Given the description of an element on the screen output the (x, y) to click on. 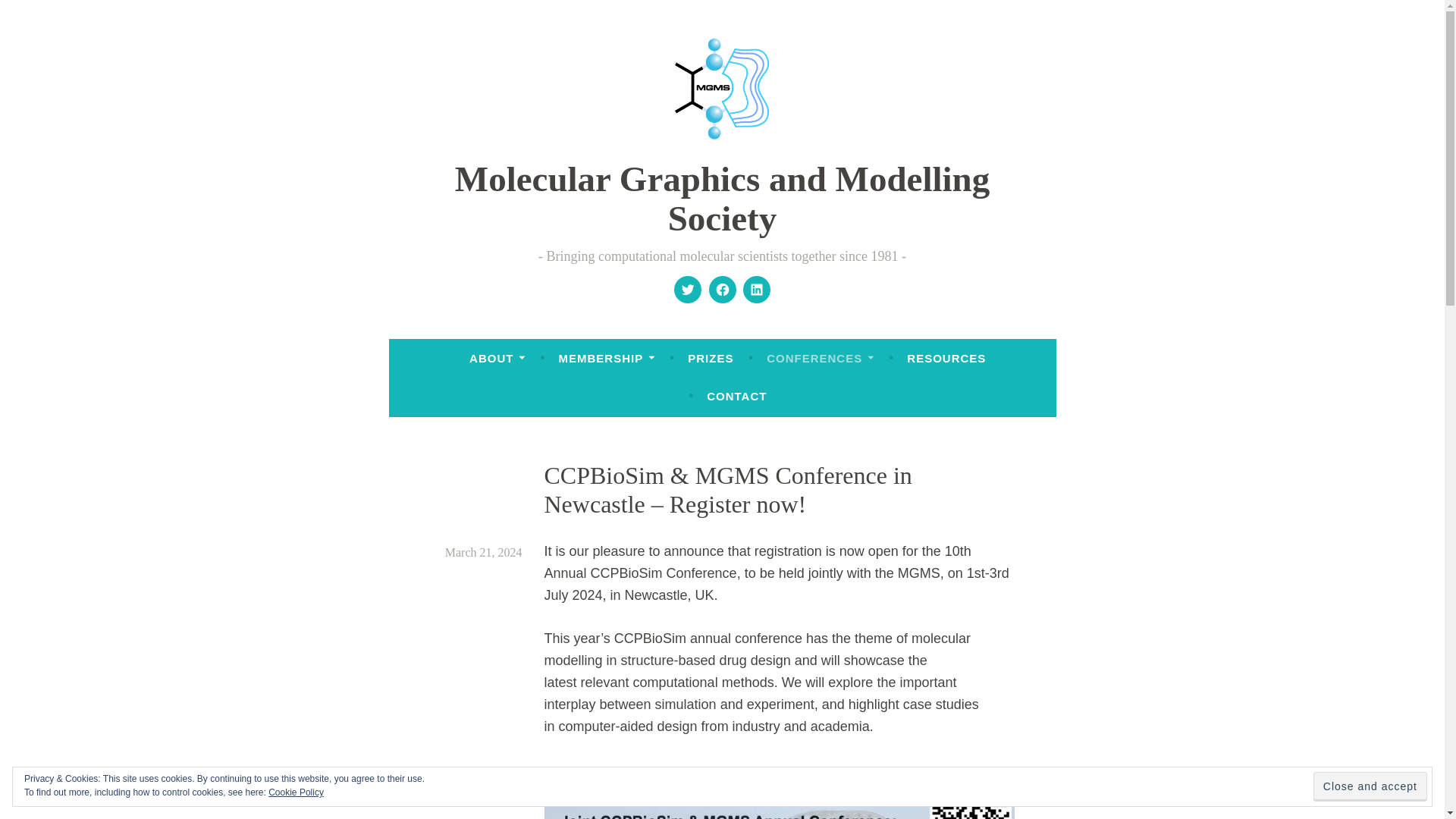
MEMBERSHIP (605, 357)
RESOURCES (946, 357)
Molecular Graphics and Modelling Society LinkedIn Group (756, 289)
CONTACT (736, 396)
Facebook (721, 289)
CONFERENCES (820, 357)
PRIZES (710, 357)
Search (37, 15)
Twitter (687, 289)
Molecular Graphics and Modelling Society Facebook Group (721, 289)
Molecular Graphics and Modelling Society Twitter Feed (687, 289)
March 21, 2024 (483, 552)
ABOUT (496, 357)
Close and accept (1369, 786)
LinkedIn (756, 289)
